Given the description of an element on the screen output the (x, y) to click on. 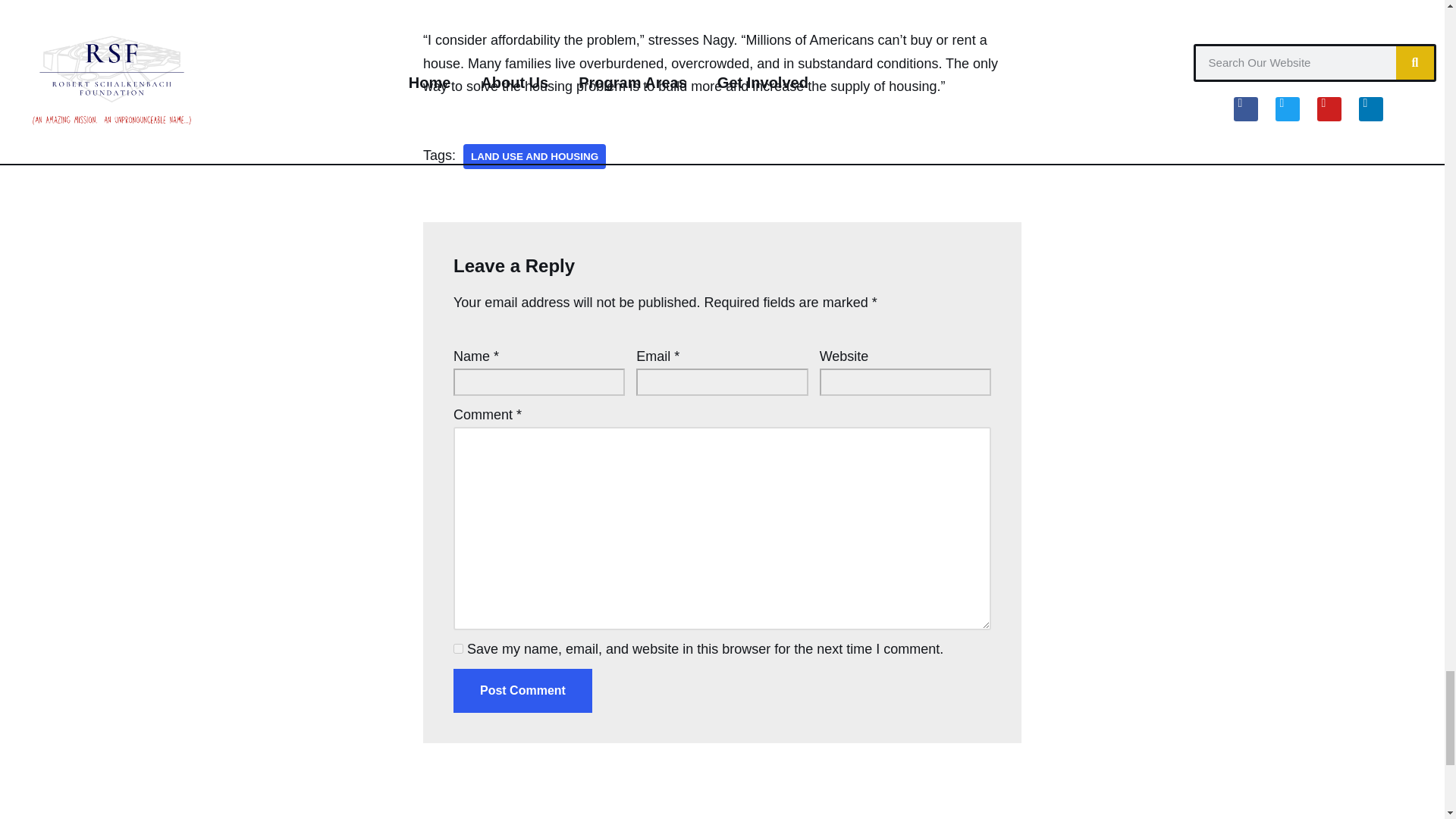
Land Use and Housing (534, 156)
yes (457, 648)
Post Comment (522, 690)
